Given the description of an element on the screen output the (x, y) to click on. 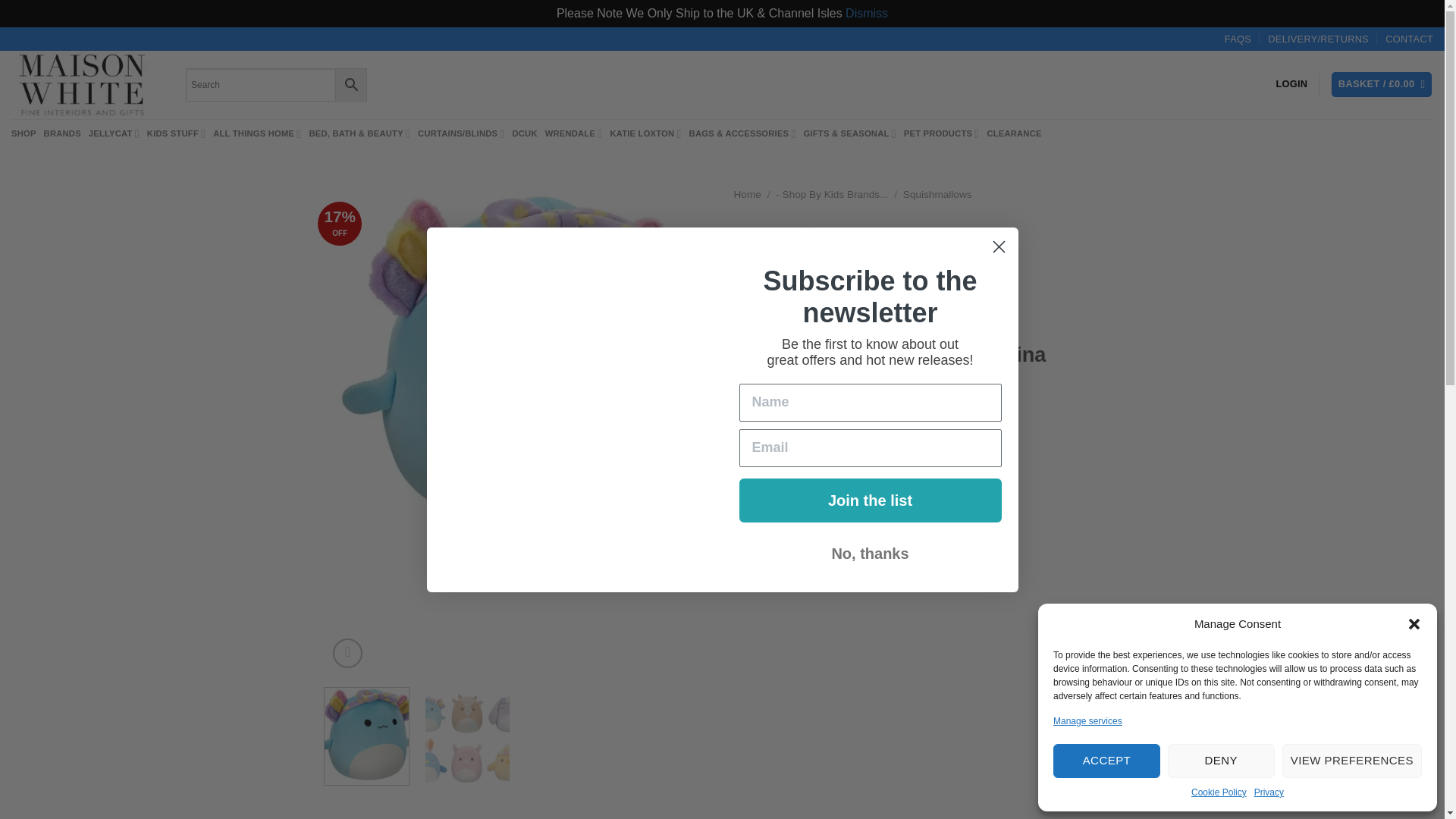
ACCEPT (1106, 760)
Privacy (1268, 792)
FAQS (1237, 38)
LOGIN (1291, 83)
VIEW PREFERENCES (1352, 760)
Dismiss (866, 12)
Zoom (347, 653)
Squishmallows (839, 280)
Cookie Policy (1218, 792)
BRANDS (62, 133)
Basket (1382, 84)
CONTACT (1409, 38)
Login (1291, 83)
Manage services (1087, 721)
DENY (1221, 760)
